Given the description of an element on the screen output the (x, y) to click on. 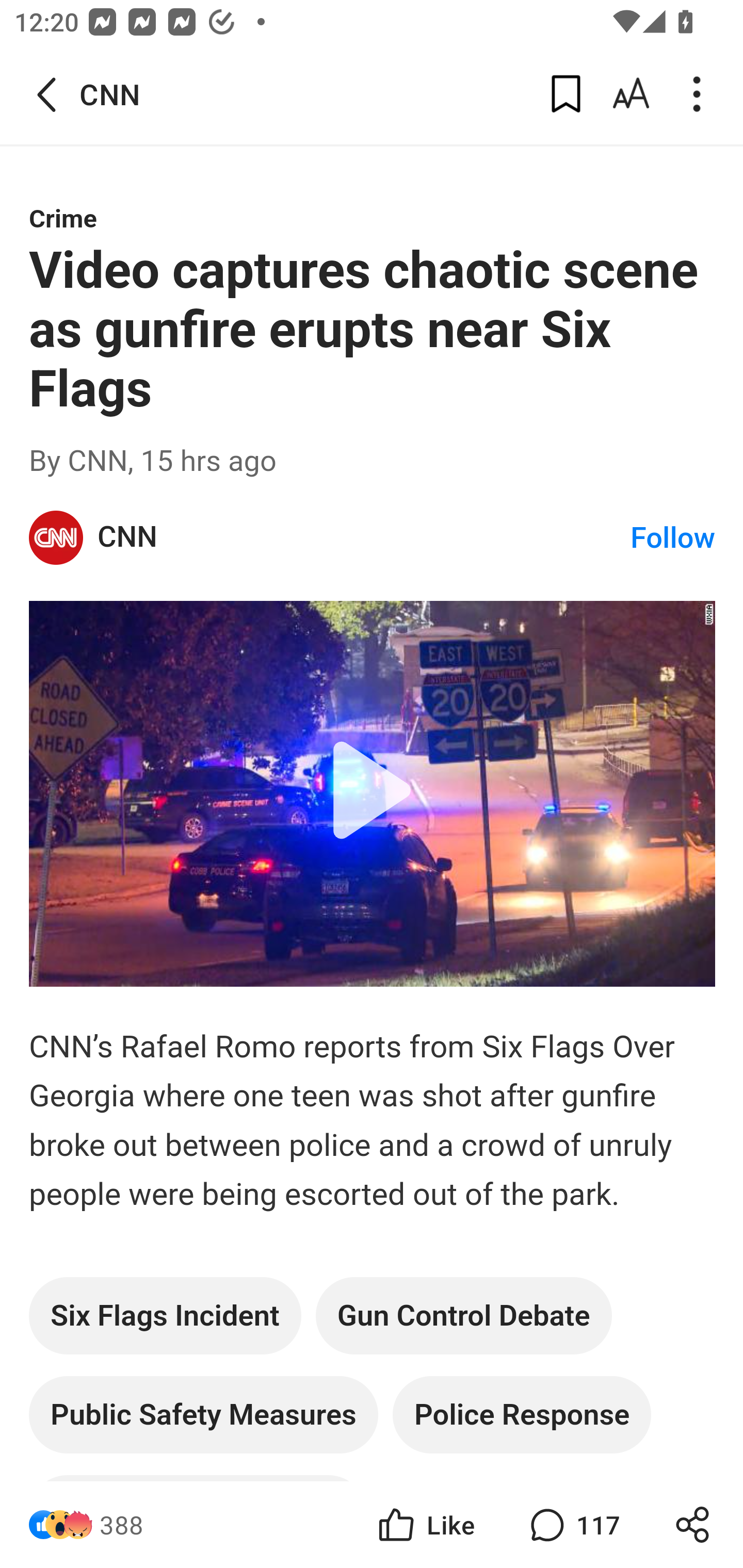
CNN (56, 538)
CNN (364, 537)
Follow (673, 538)
Play Play video player Unable to play media. (372, 792)
Play (372, 793)
388 (121, 1524)
Like (425, 1524)
117 (572, 1524)
